Given the description of an element on the screen output the (x, y) to click on. 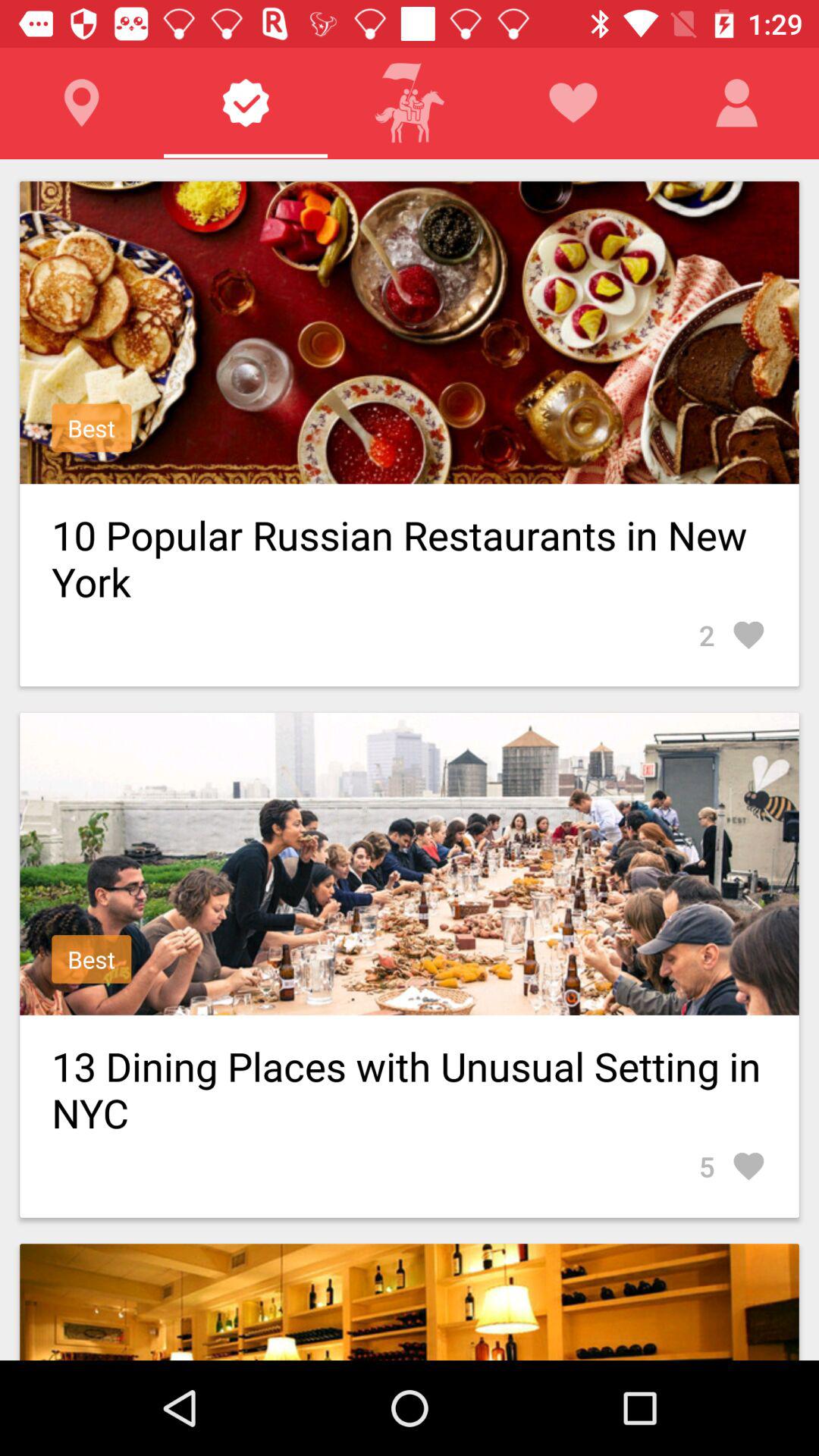
flip to the 2 icon (732, 635)
